Given the description of an element on the screen output the (x, y) to click on. 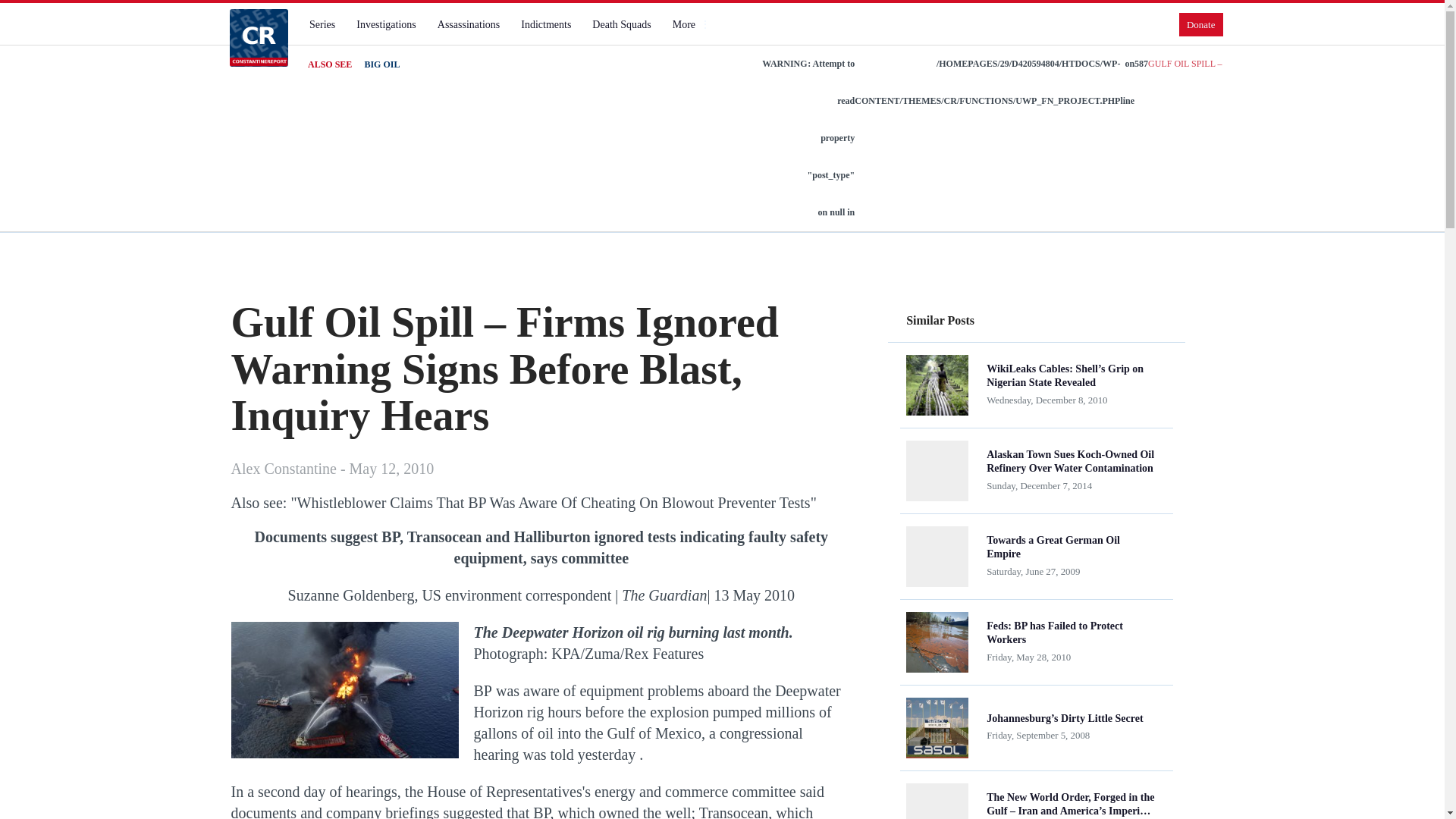
Donate (1201, 24)
BIG OIL (381, 64)
More from guardian.co.uk on BP (482, 690)
Assassinations (467, 23)
Series (321, 23)
More (690, 24)
Death Squads (621, 23)
More from guardian.co.uk on Oil (545, 733)
Indictments (545, 23)
